Given the description of an element on the screen output the (x, y) to click on. 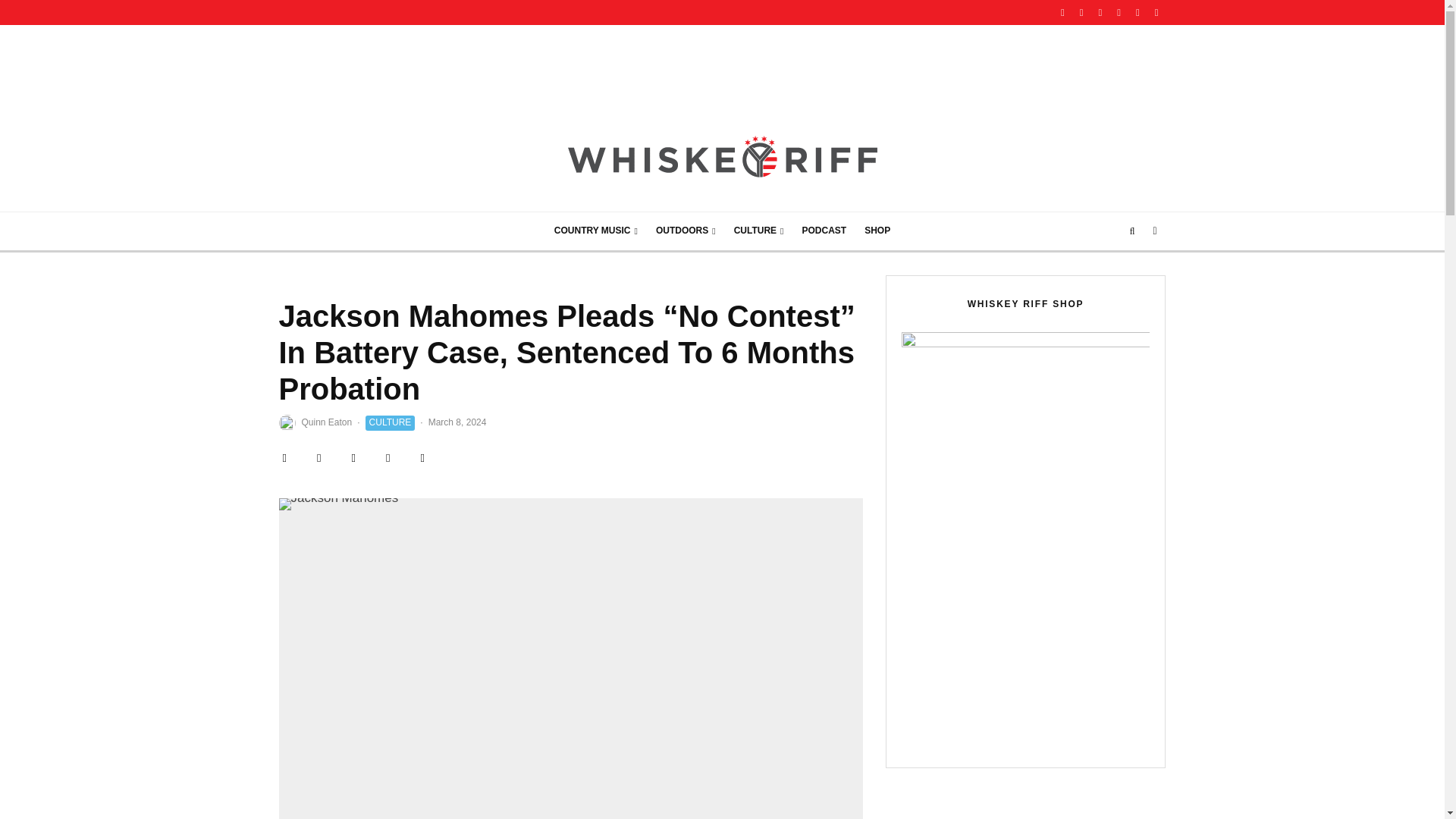
CULTURE (759, 231)
OUTDOORS (685, 231)
COUNTRY MUSIC (595, 231)
